Given the description of an element on the screen output the (x, y) to click on. 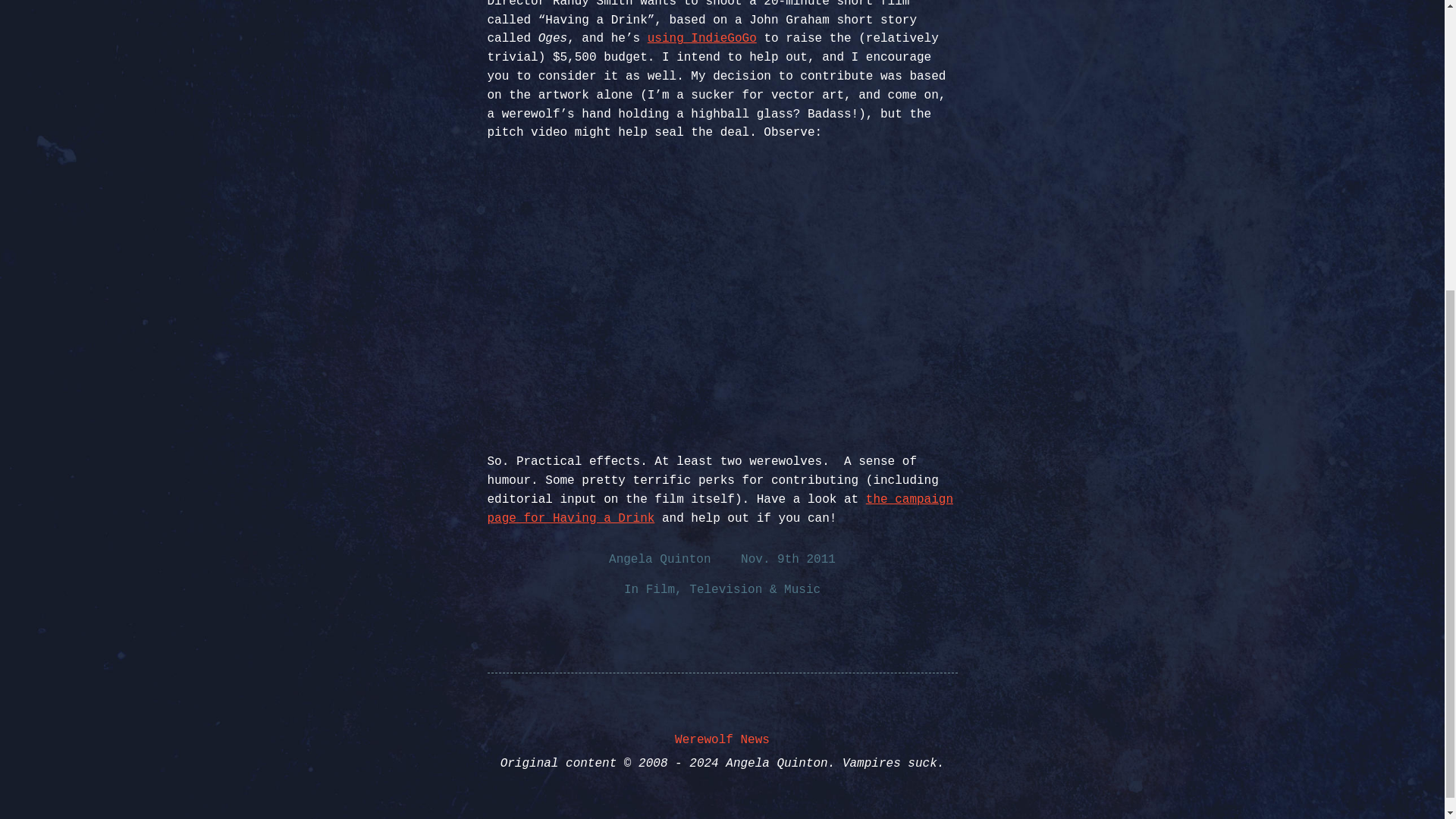
Posts by Angela Quinton (659, 559)
the campaign page for Having a Drink (719, 509)
using IndieGoGo (702, 38)
Werewolf News (722, 739)
Nov. 9th 2011 (788, 559)
Angela Quinton (659, 559)
